Given the description of an element on the screen output the (x, y) to click on. 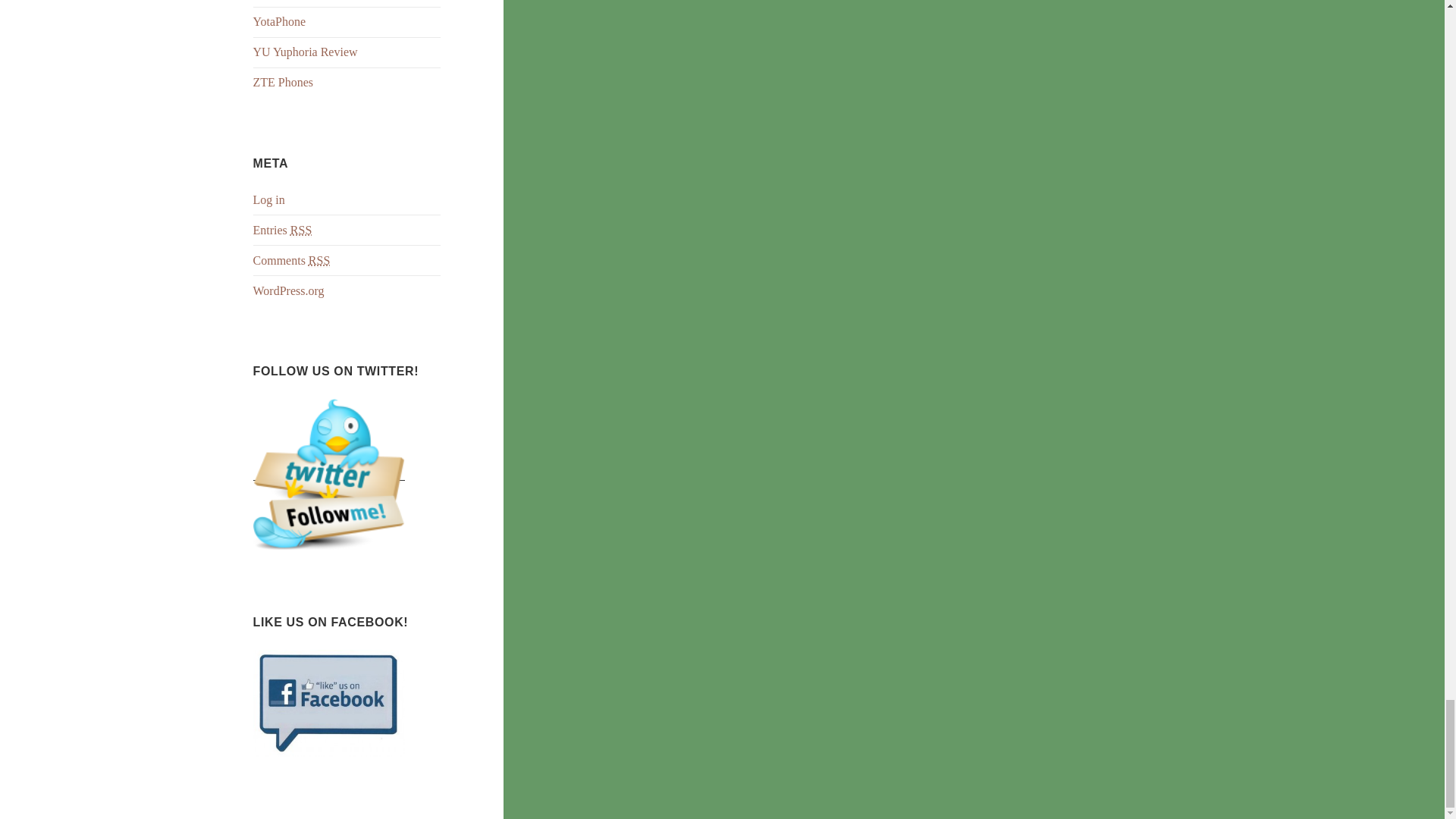
Really Simple Syndication (300, 230)
Really Simple Syndication (319, 260)
Follow Government Cell on Twitter (328, 473)
Like Government Cell Phone on Facebook (328, 702)
